Given the description of an element on the screen output the (x, y) to click on. 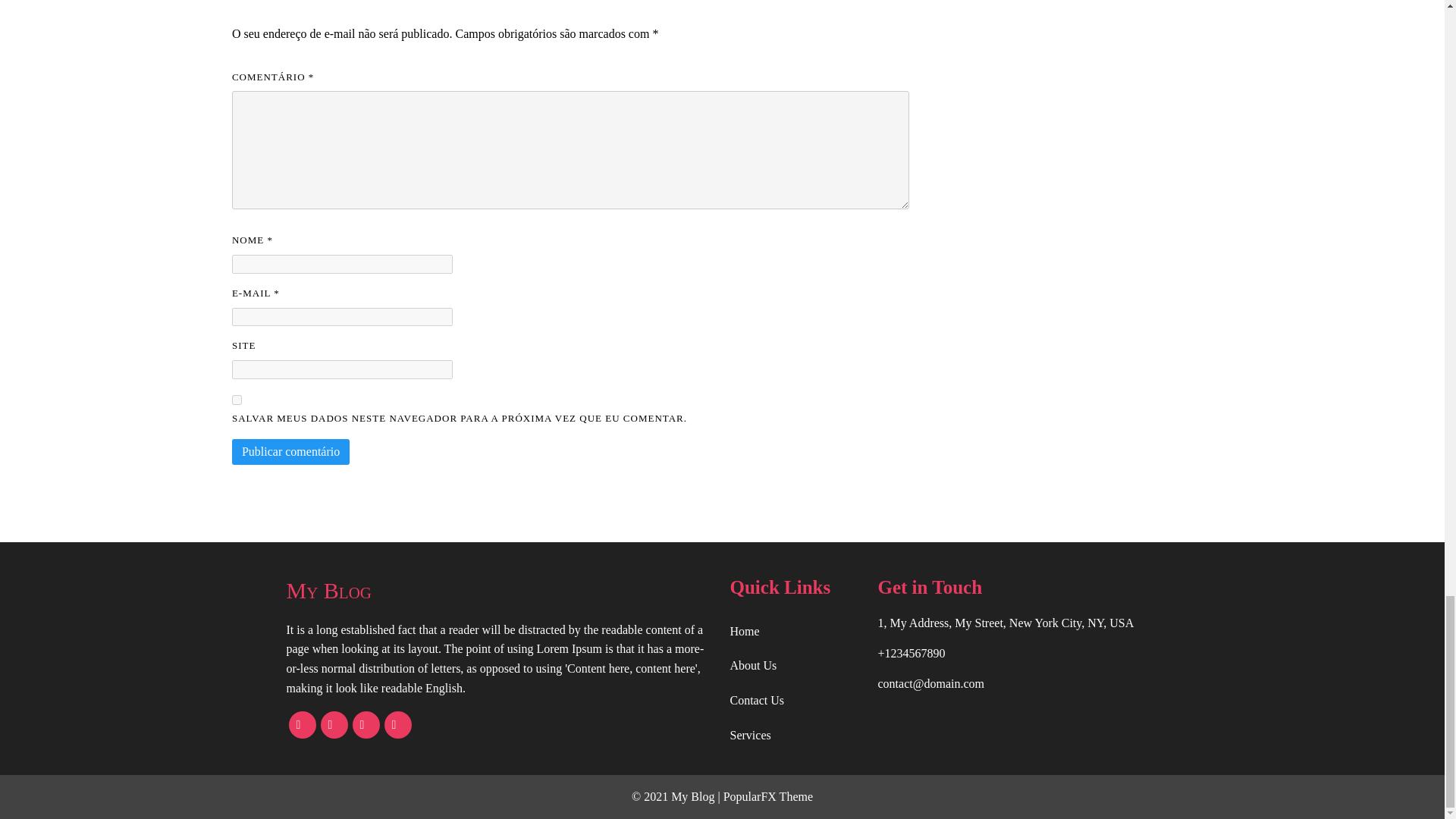
PopularFX Theme (767, 796)
My Blog (500, 590)
yes (236, 399)
